Given the description of an element on the screen output the (x, y) to click on. 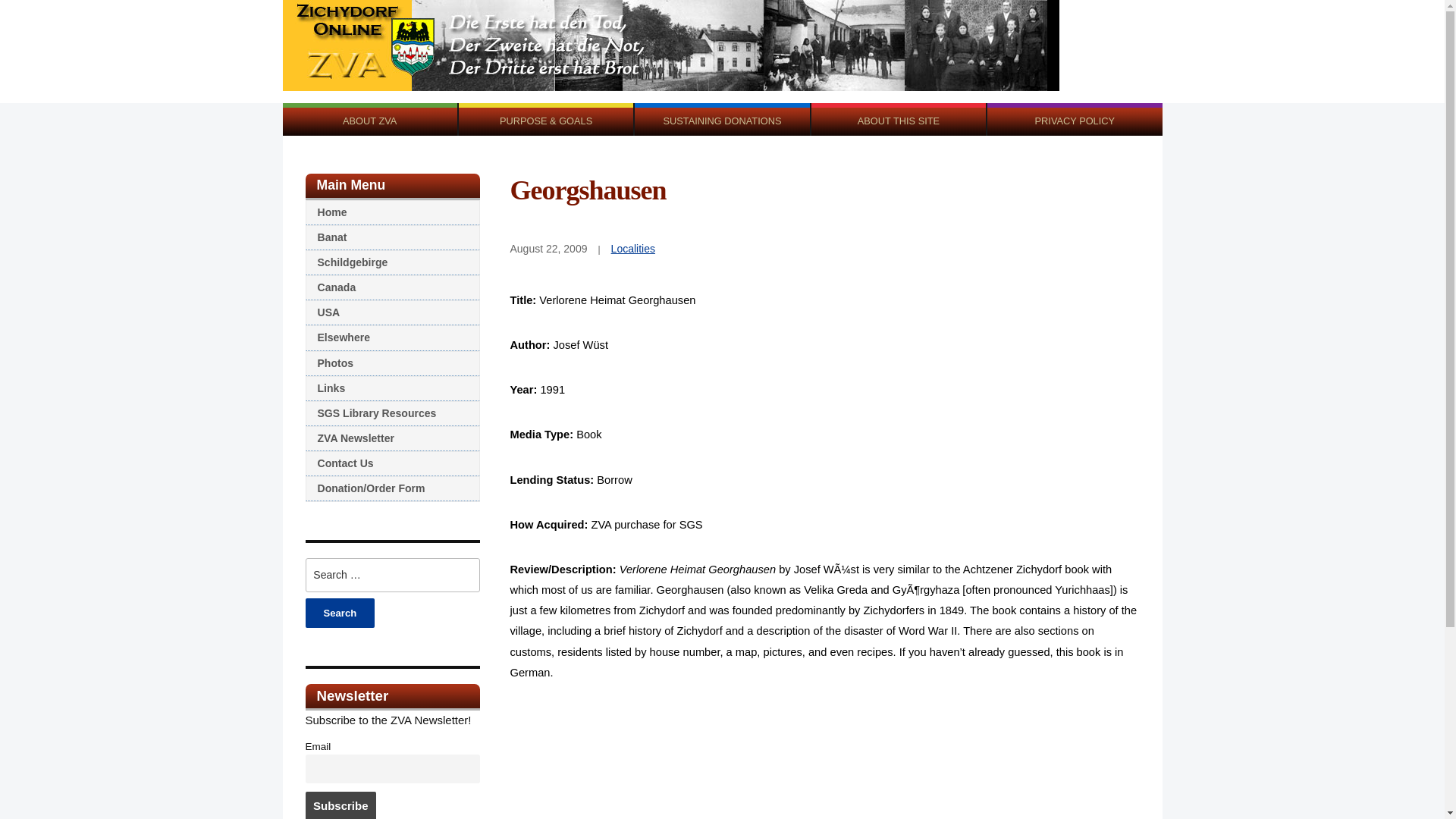
Banat (391, 237)
Photos (391, 363)
Schildgebirge (391, 262)
Canada (391, 287)
ZVA Newsletter (391, 438)
SGS Library Resources (391, 413)
Elsewhere (391, 337)
USA (391, 312)
ABOUT THIS SITE (897, 119)
Links (391, 388)
